Given the description of an element on the screen output the (x, y) to click on. 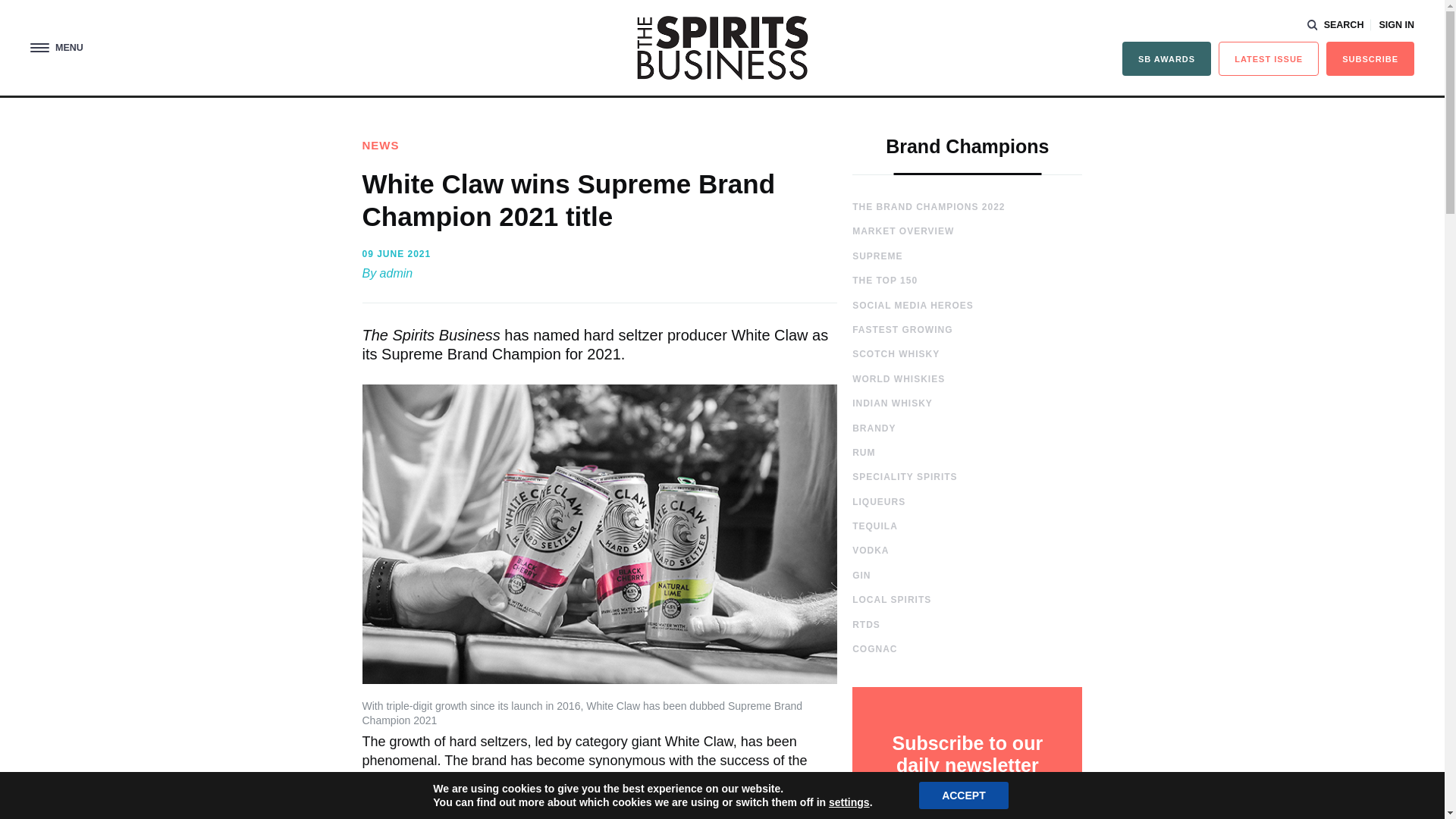
SUBSCRIBE (1369, 58)
SIGN IN (1395, 25)
LATEST ISSUE (1268, 58)
The Spirits Business (722, 47)
SB AWARDS (1166, 58)
